Given the description of an element on the screen output the (x, y) to click on. 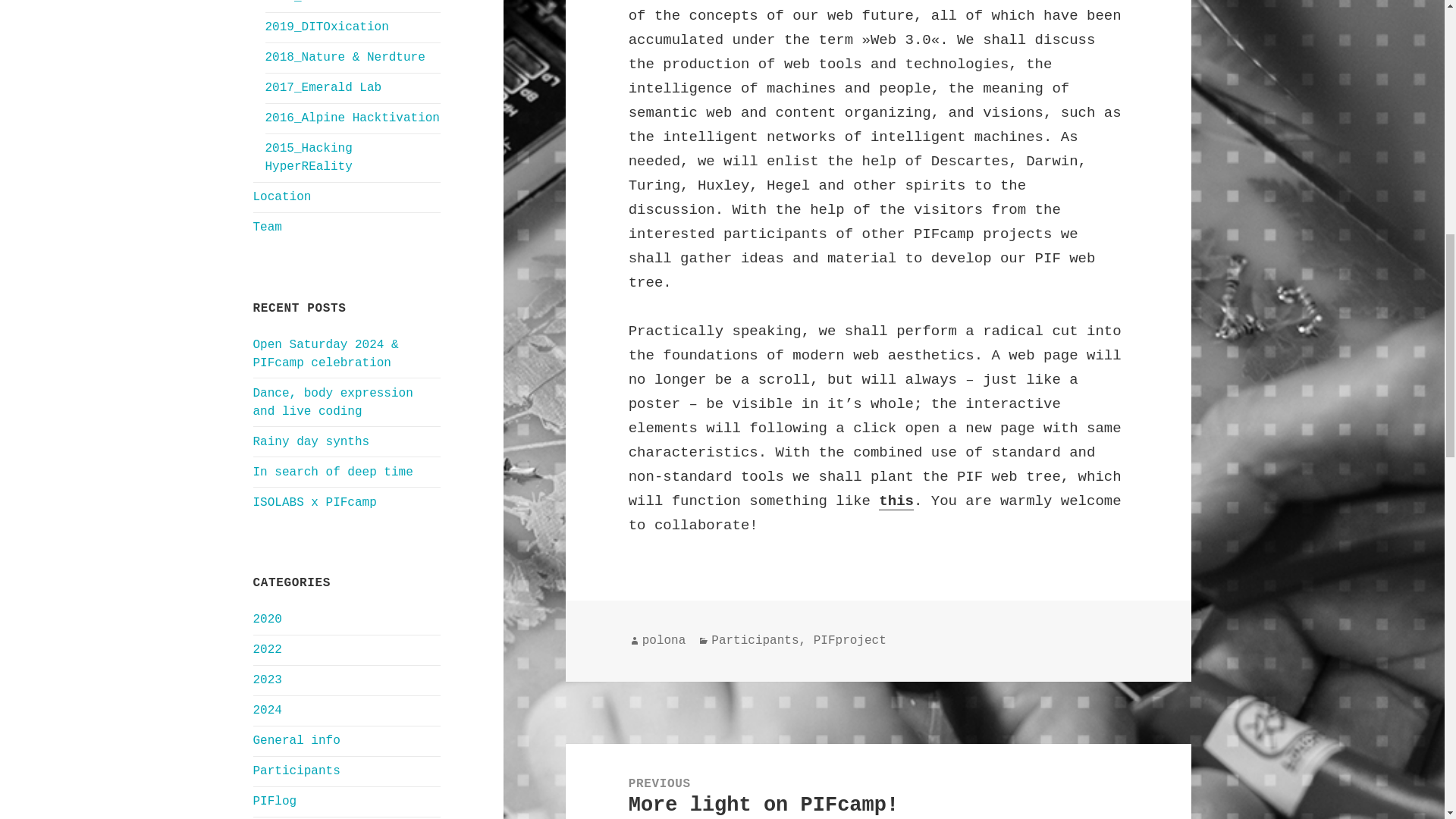
PIFlog (275, 801)
2023 (267, 680)
2020 (267, 619)
2024 (267, 710)
In search of deep time  (336, 472)
2022 (267, 649)
Topic (308, 157)
Dance, body expression and live coding (333, 402)
Team (267, 227)
Rainy day synths (311, 441)
